Given the description of an element on the screen output the (x, y) to click on. 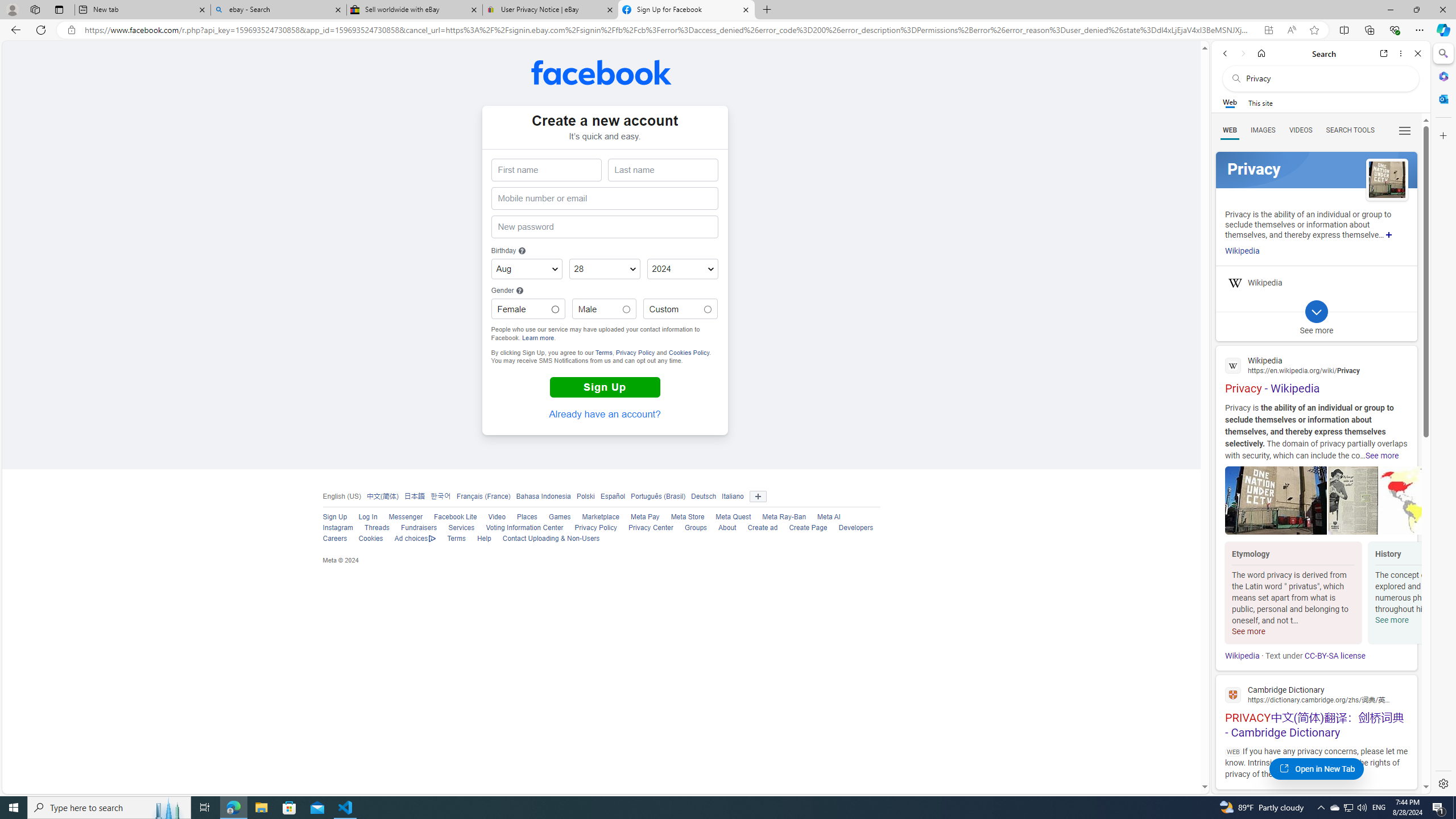
Italiano (733, 496)
Search the web (1326, 78)
Meta Pay (638, 517)
Places (521, 517)
Developers (850, 527)
Contact Uploading & Non-Users (544, 538)
Help (478, 538)
Class: b_exp_chevron_svg b_expmob_chev (1315, 311)
